Given the description of an element on the screen output the (x, y) to click on. 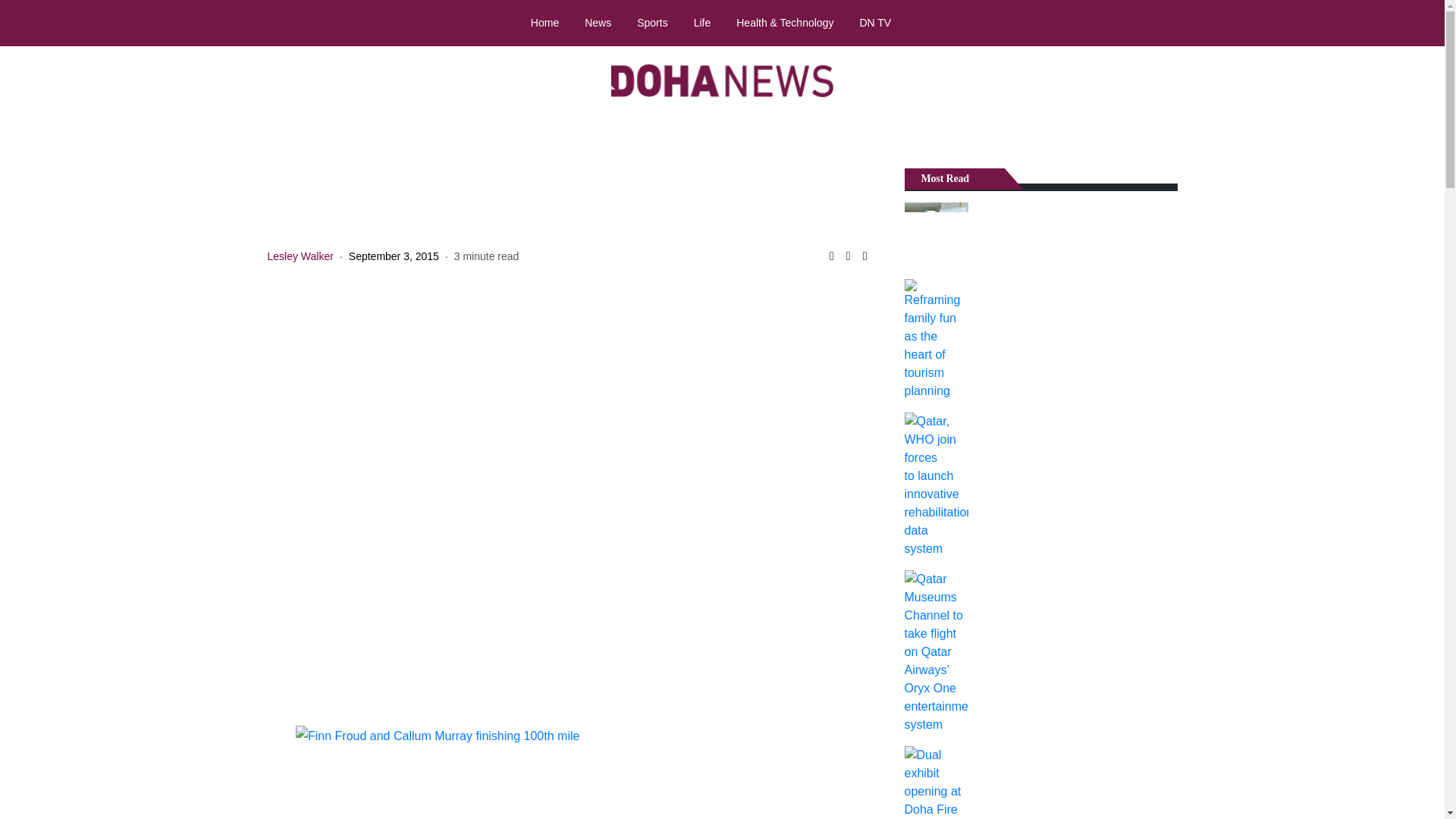
Lesley Walker (299, 256)
Life (702, 22)
View all posts by Lesley Walker (299, 256)
DN TV (875, 22)
Search (1417, 23)
News (598, 22)
Sports (651, 22)
Home (545, 22)
September 3, 2015 (394, 256)
